Given the description of an element on the screen output the (x, y) to click on. 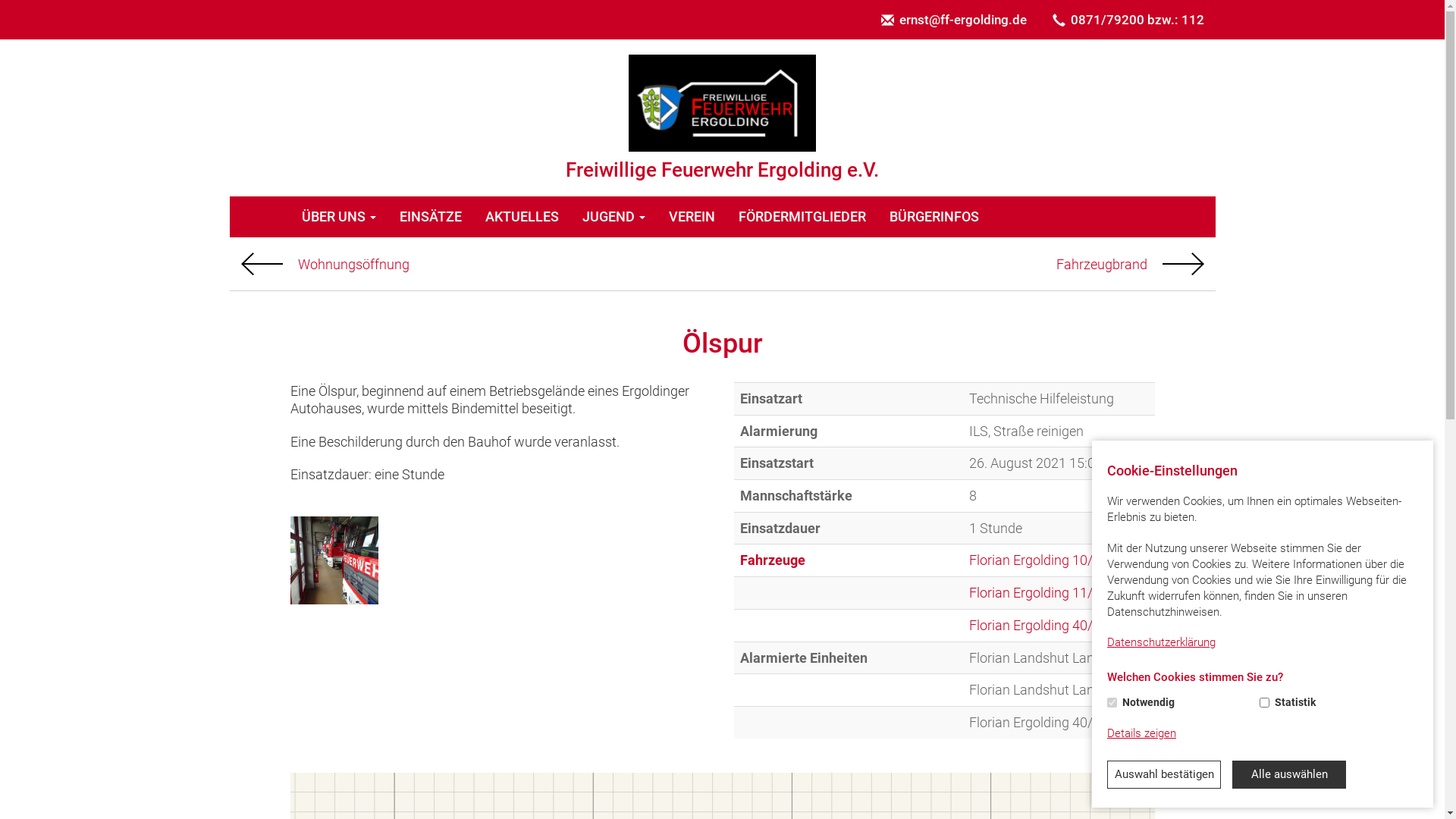
Freiwillige Feuerwehr Ergolding e.V. Element type: text (721, 117)
ernst@ff-ergolding.de Element type: text (953, 19)
Fahrzeugbrand Element type: text (1129, 264)
0871/79200 bzw.: 112 Element type: text (1127, 19)
Details zeigen Element type: text (1141, 733)
Florian Ergolding 10/1 Element type: text (1034, 559)
JUGEND Element type: text (613, 216)
AKTUELLES Element type: text (521, 216)
Freiwillige Feuerwehr Ergolding e.V. Element type: hover (721, 102)
VEREIN Element type: text (691, 216)
Fahrzeuge Element type: text (772, 559)
Florian Ergolding 11/1 Element type: text (1034, 592)
Vorheriger Element type: hover (261, 264)
Florian Ergolding 40/1 Element type: text (1034, 625)
